Given the description of an element on the screen output the (x, y) to click on. 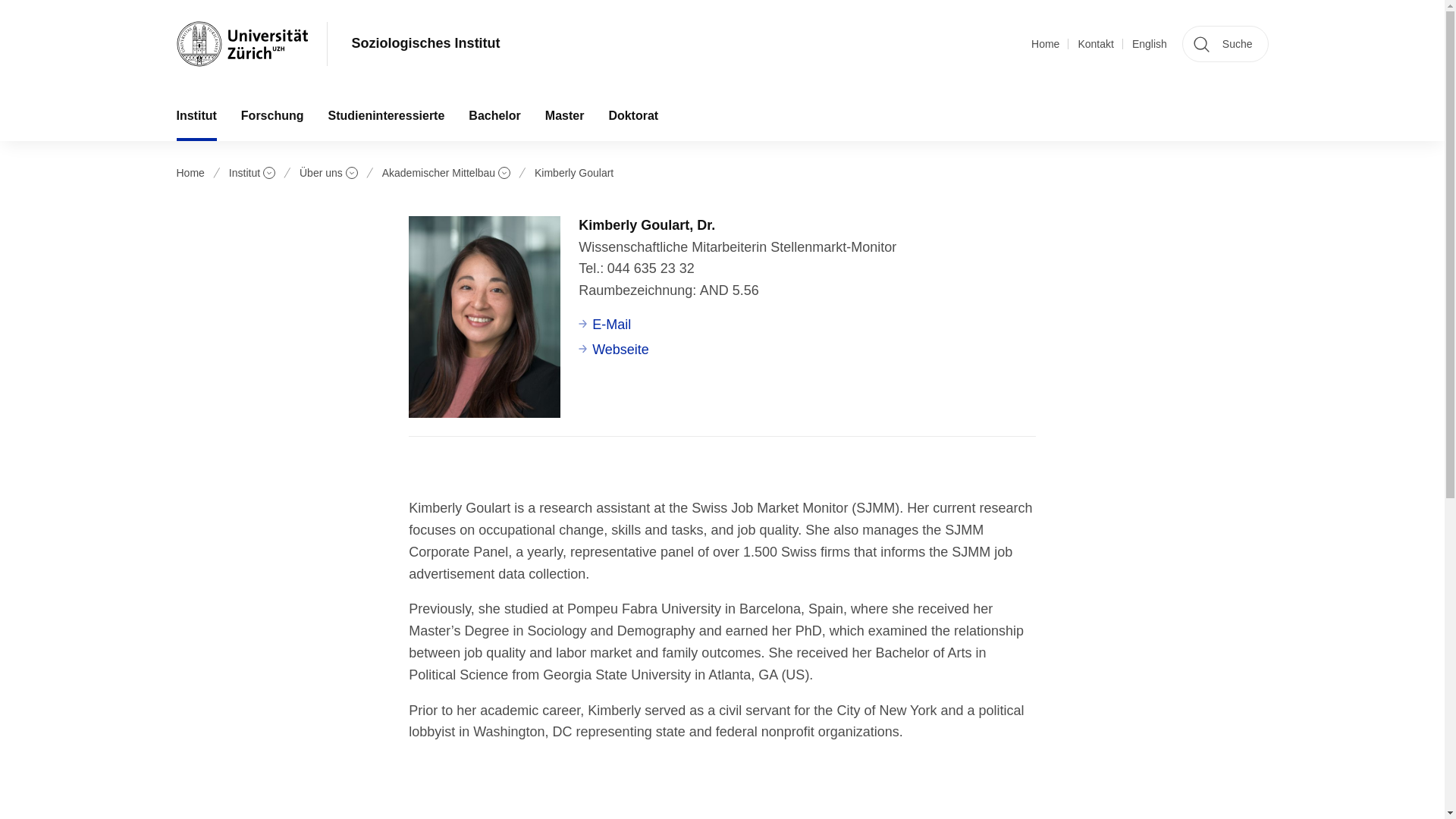
Soziologisches Institut (426, 43)
English (1149, 44)
Home (1044, 44)
Kontakt (1095, 44)
Suche (1225, 43)
Institut (195, 115)
Forschung (271, 115)
